Given the description of an element on the screen output the (x, y) to click on. 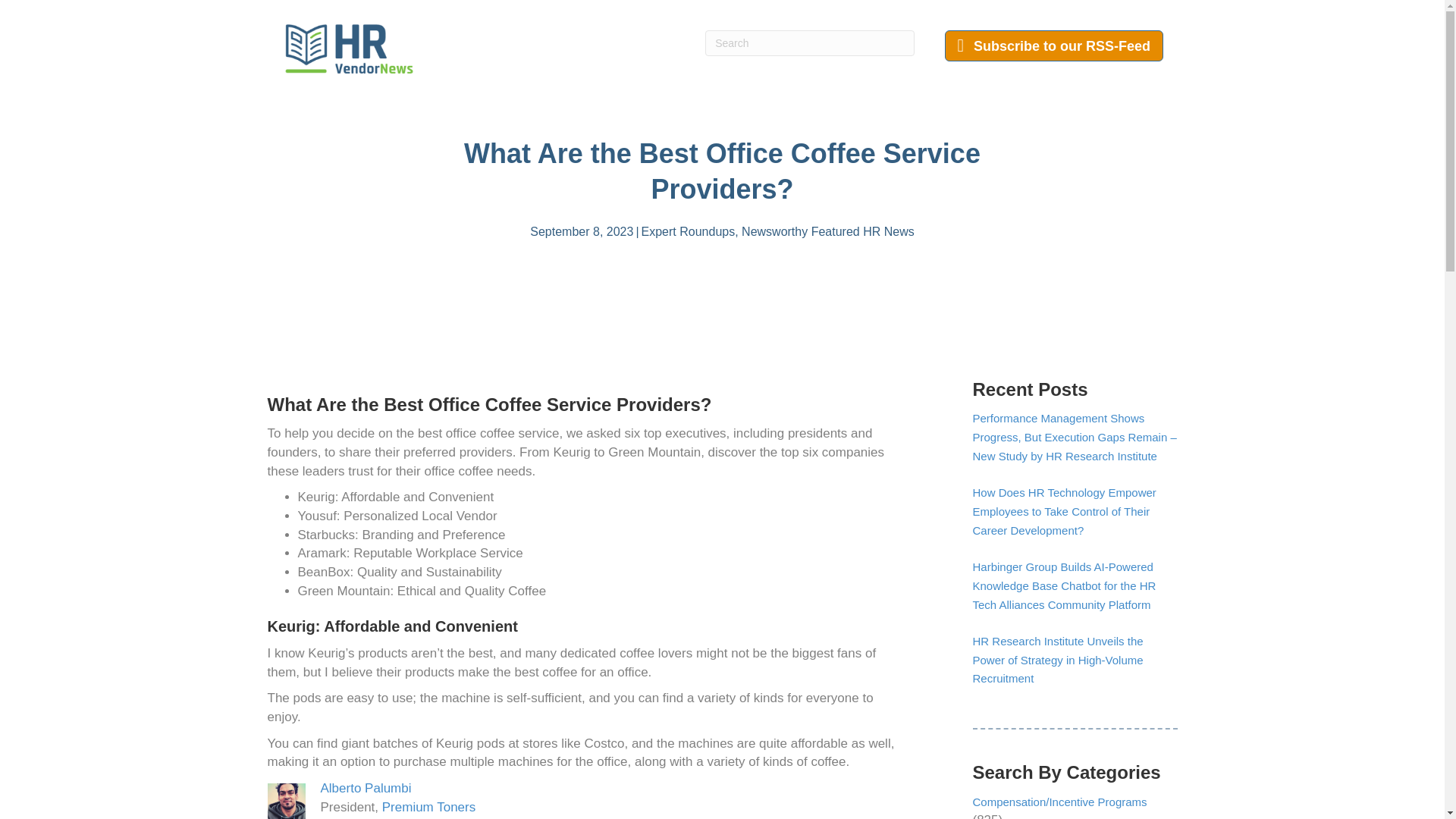
Type and press Enter to search. (809, 43)
HR Logo color (348, 48)
Premium Toners (428, 807)
Alberto Palumbi (365, 788)
Expert Roundups (688, 231)
Newsworthy Featured HR News (827, 231)
Subscribe to our RSS-Feed (1053, 45)
